Given the description of an element on the screen output the (x, y) to click on. 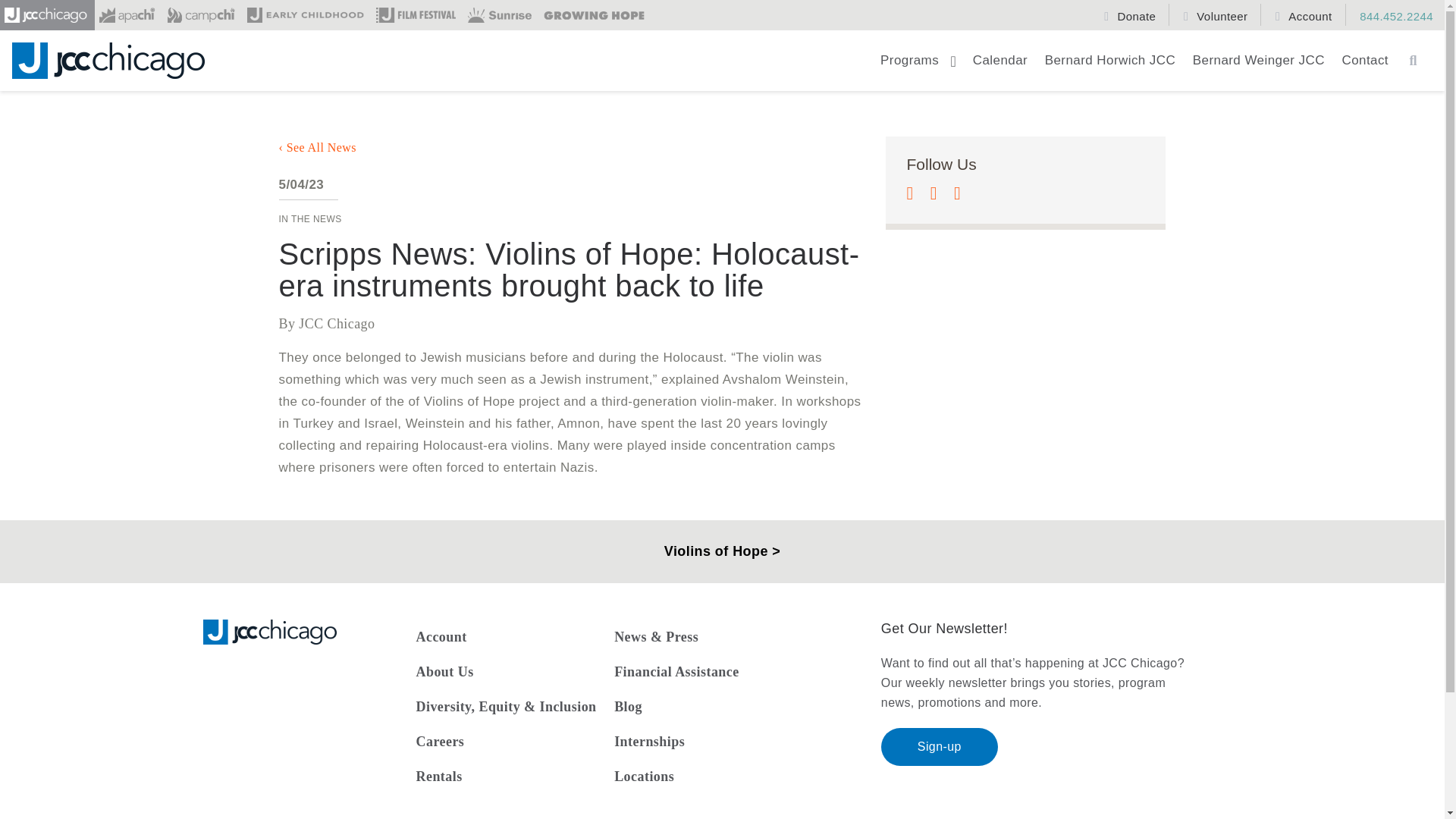
844.452.2244 (1390, 14)
Skip to Main Content (84, 24)
Volunteer (1217, 14)
Account (1305, 14)
Donate (1131, 14)
Programs (917, 67)
